Given the description of an element on the screen output the (x, y) to click on. 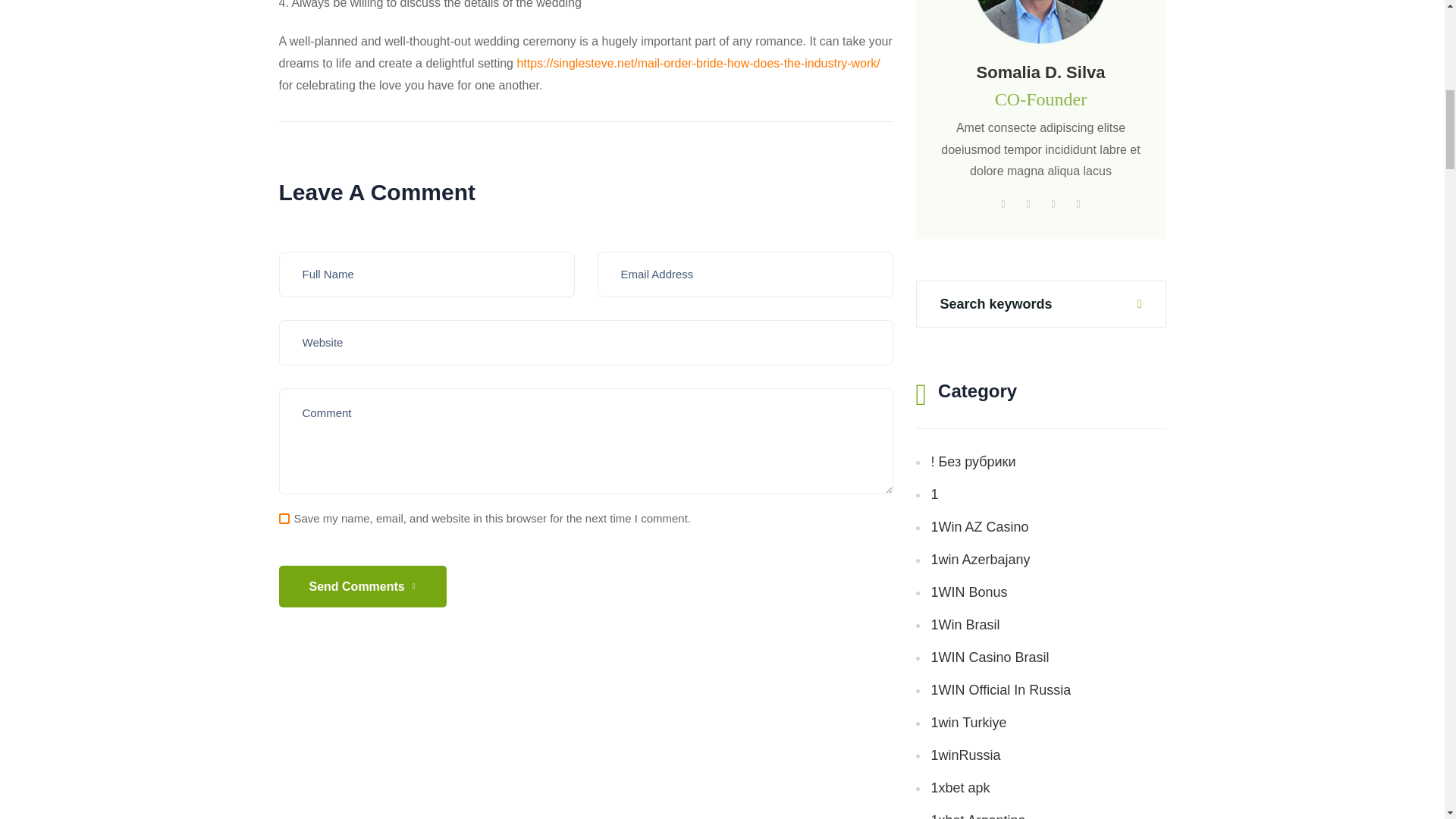
Send Comments (362, 586)
Send Comments (362, 586)
